Given the description of an element on the screen output the (x, y) to click on. 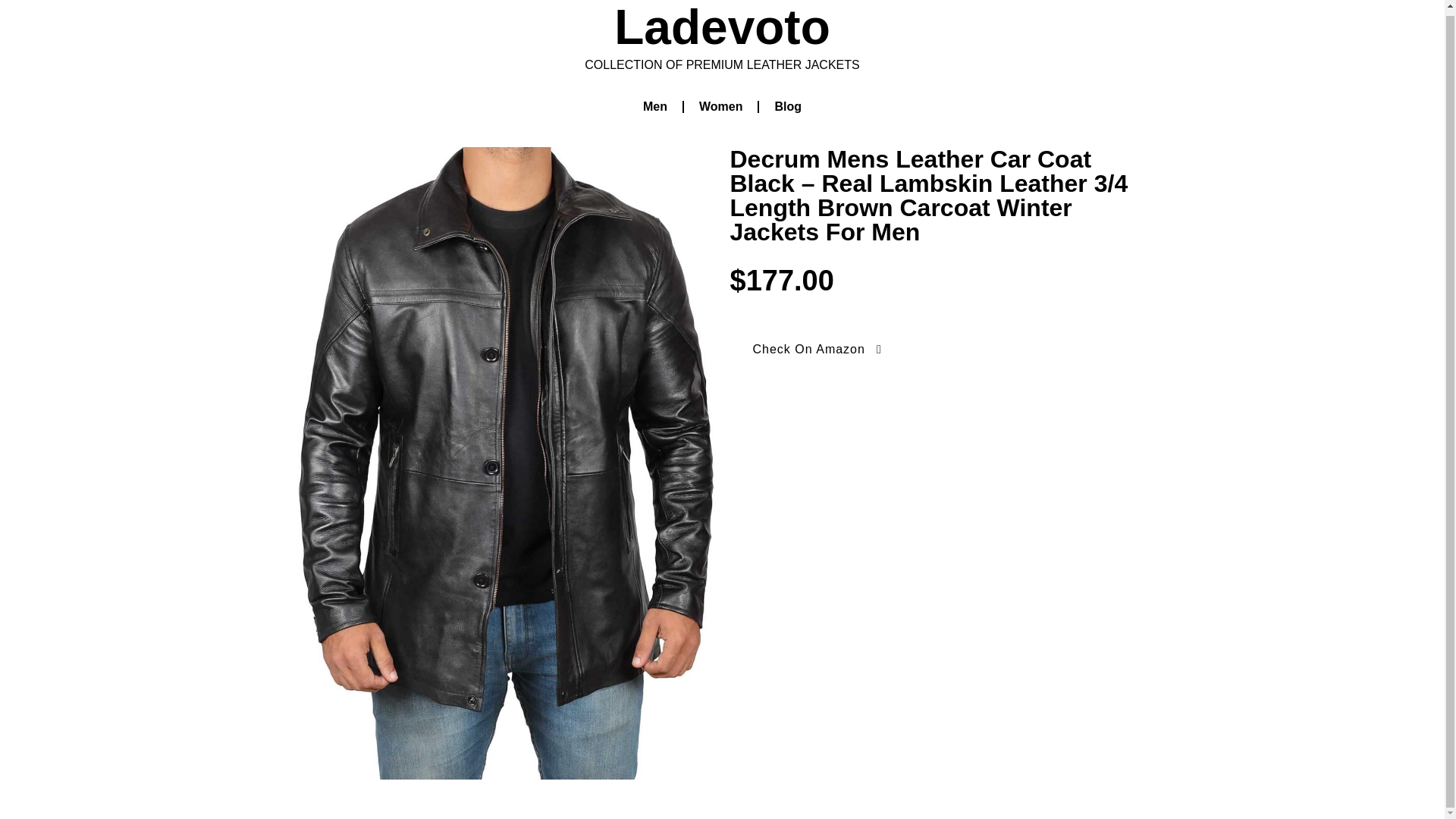
Men (654, 106)
Check On Amazon (818, 349)
Women (720, 106)
Ladevoto (721, 27)
Blog (787, 106)
